Given the description of an element on the screen output the (x, y) to click on. 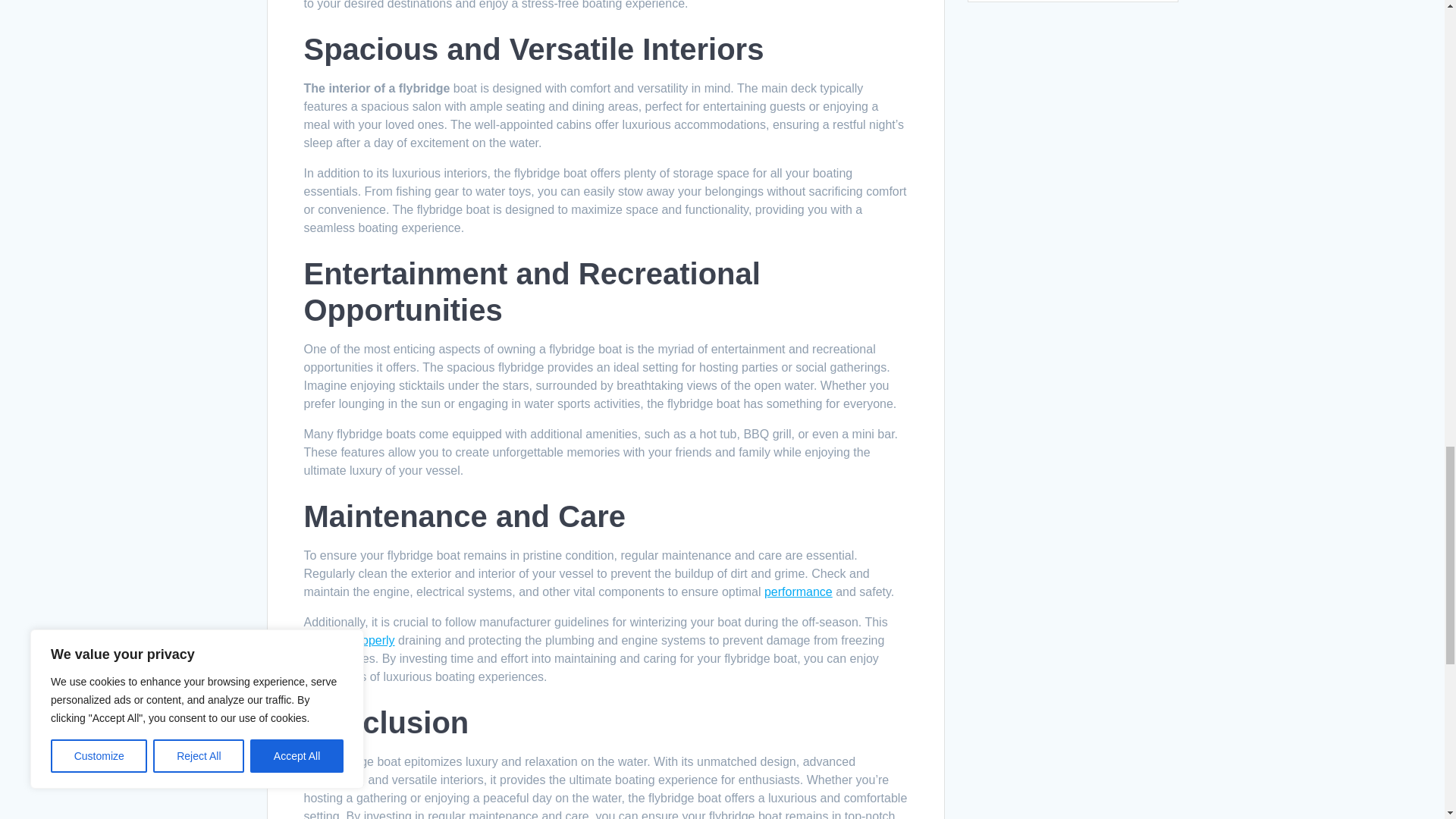
involves properly (348, 640)
performance (798, 591)
